Given the description of an element on the screen output the (x, y) to click on. 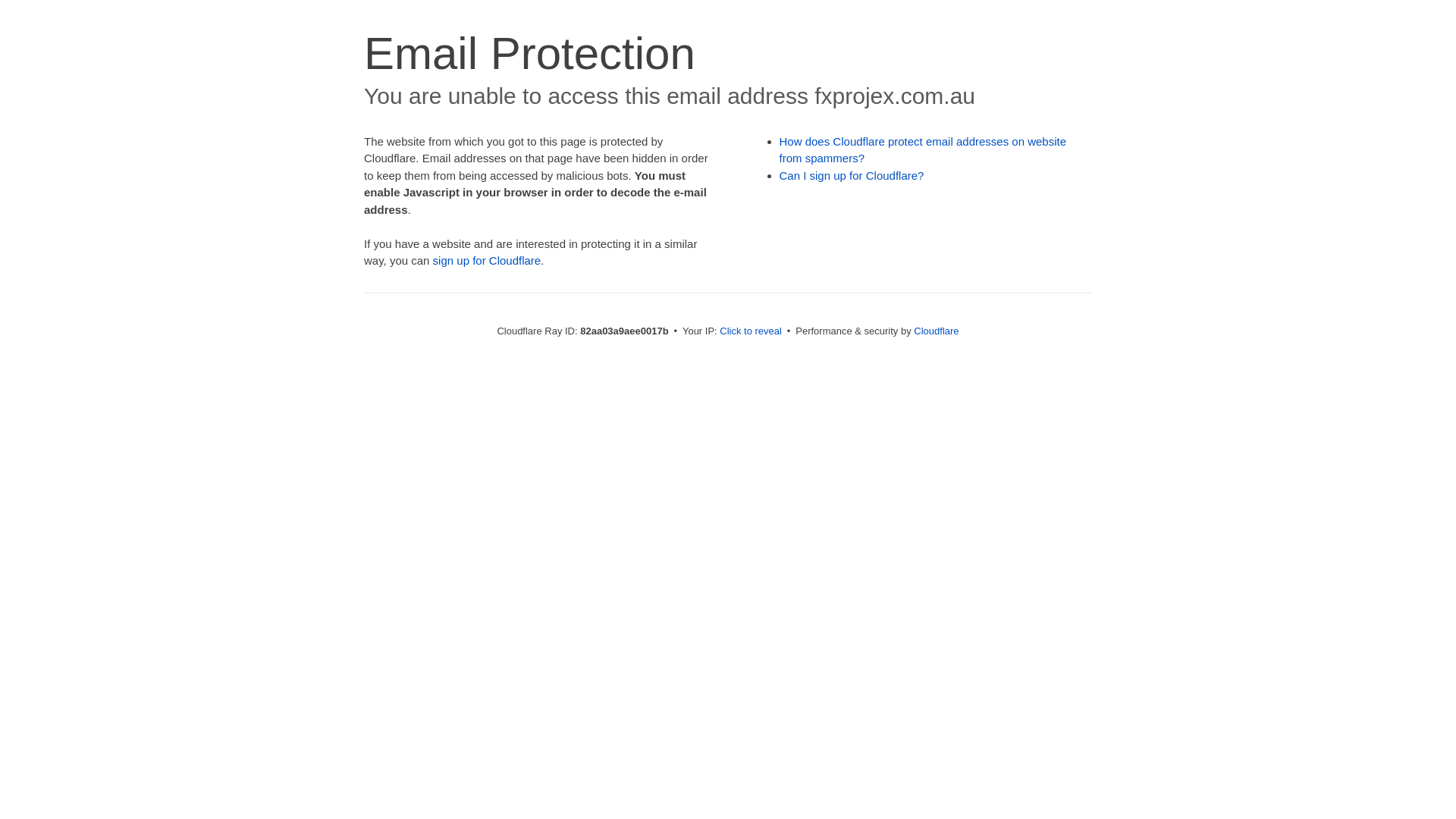
Click to reveal Element type: text (750, 330)
sign up for Cloudflare Element type: text (487, 260)
Cloudflare Element type: text (935, 330)
Can I sign up for Cloudflare? Element type: text (851, 175)
